Given the description of an element on the screen output the (x, y) to click on. 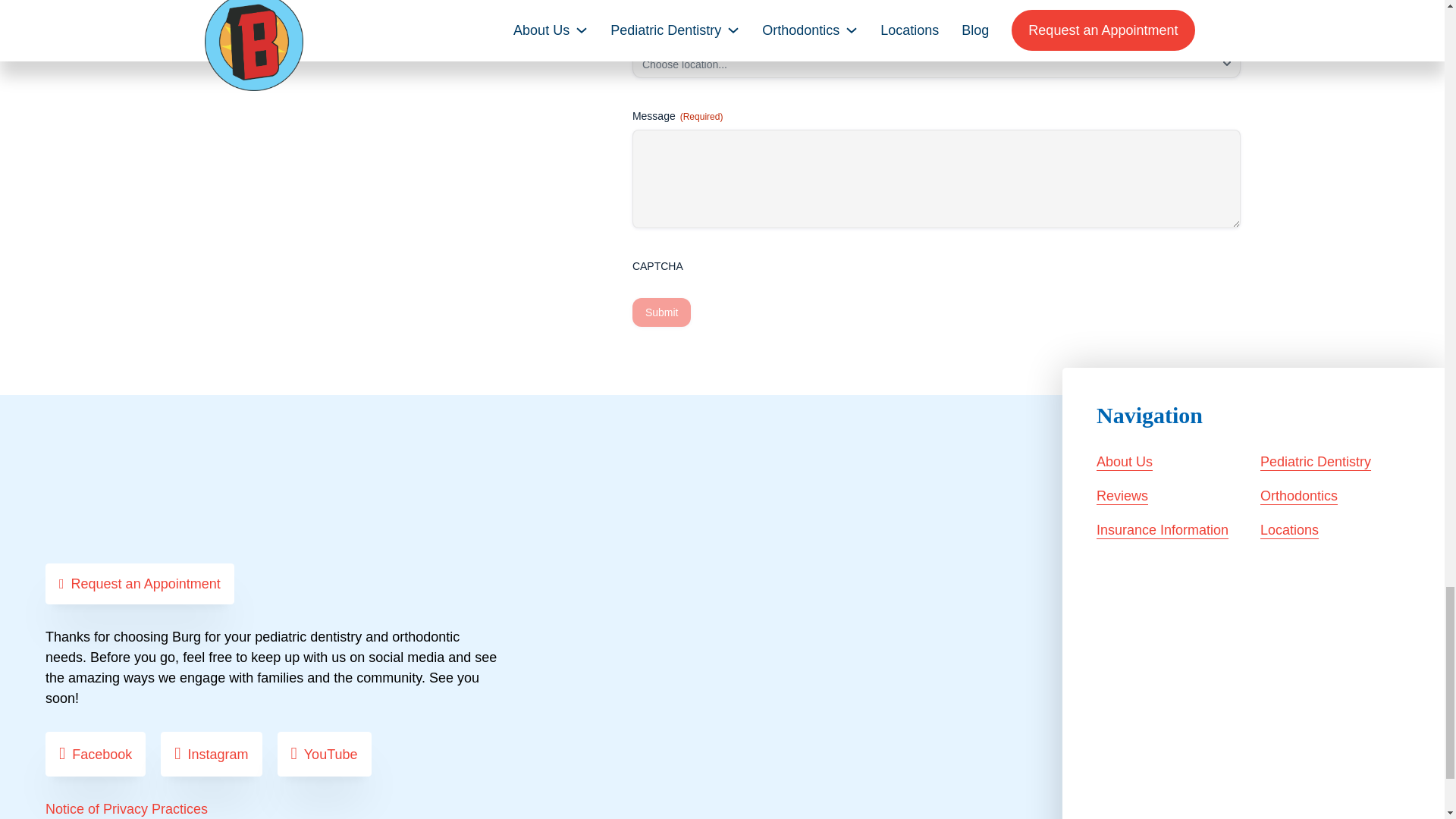
Submit (661, 312)
